Given the description of an element on the screen output the (x, y) to click on. 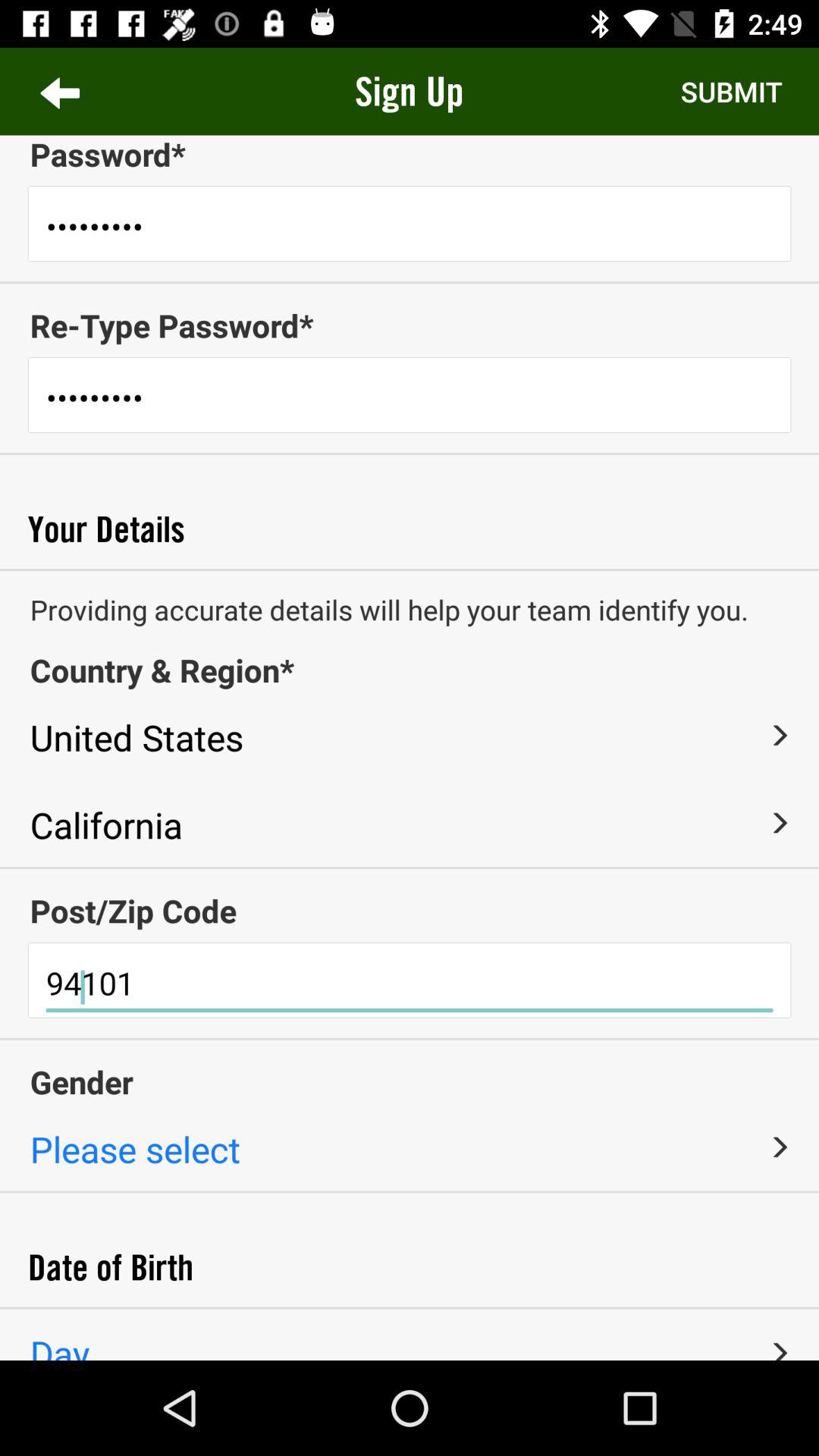
jump to the 94101 icon (409, 984)
